Given the description of an element on the screen output the (x, y) to click on. 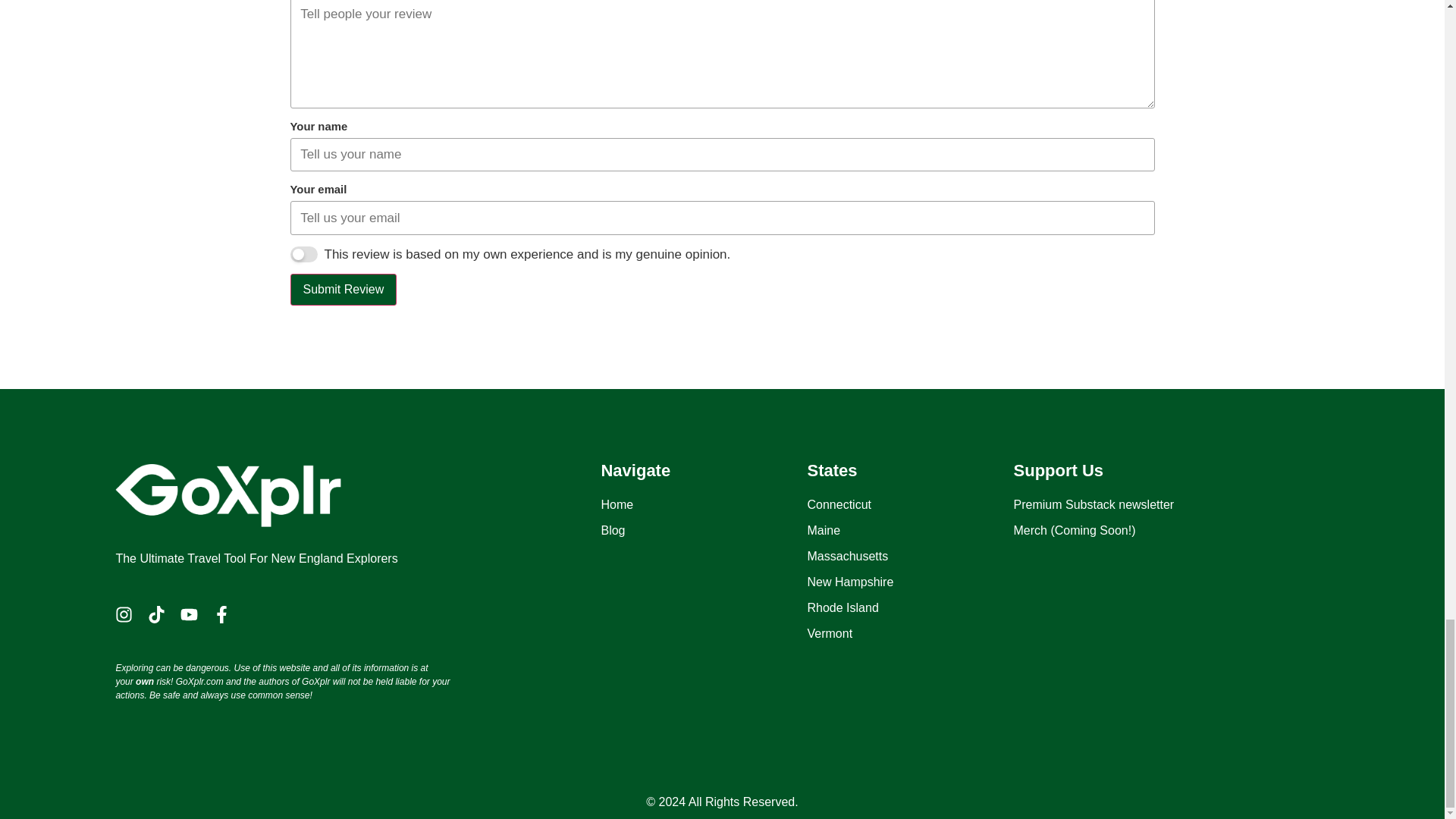
Maine (909, 530)
Blog (702, 530)
Submit Review (342, 289)
Premium Substack newsletter (1116, 505)
Home (702, 505)
New Hampshire (909, 582)
Massachusetts (909, 556)
Rhode Island (909, 607)
Connecticut (909, 505)
Vermont (909, 633)
1 (303, 254)
